Given the description of an element on the screen output the (x, y) to click on. 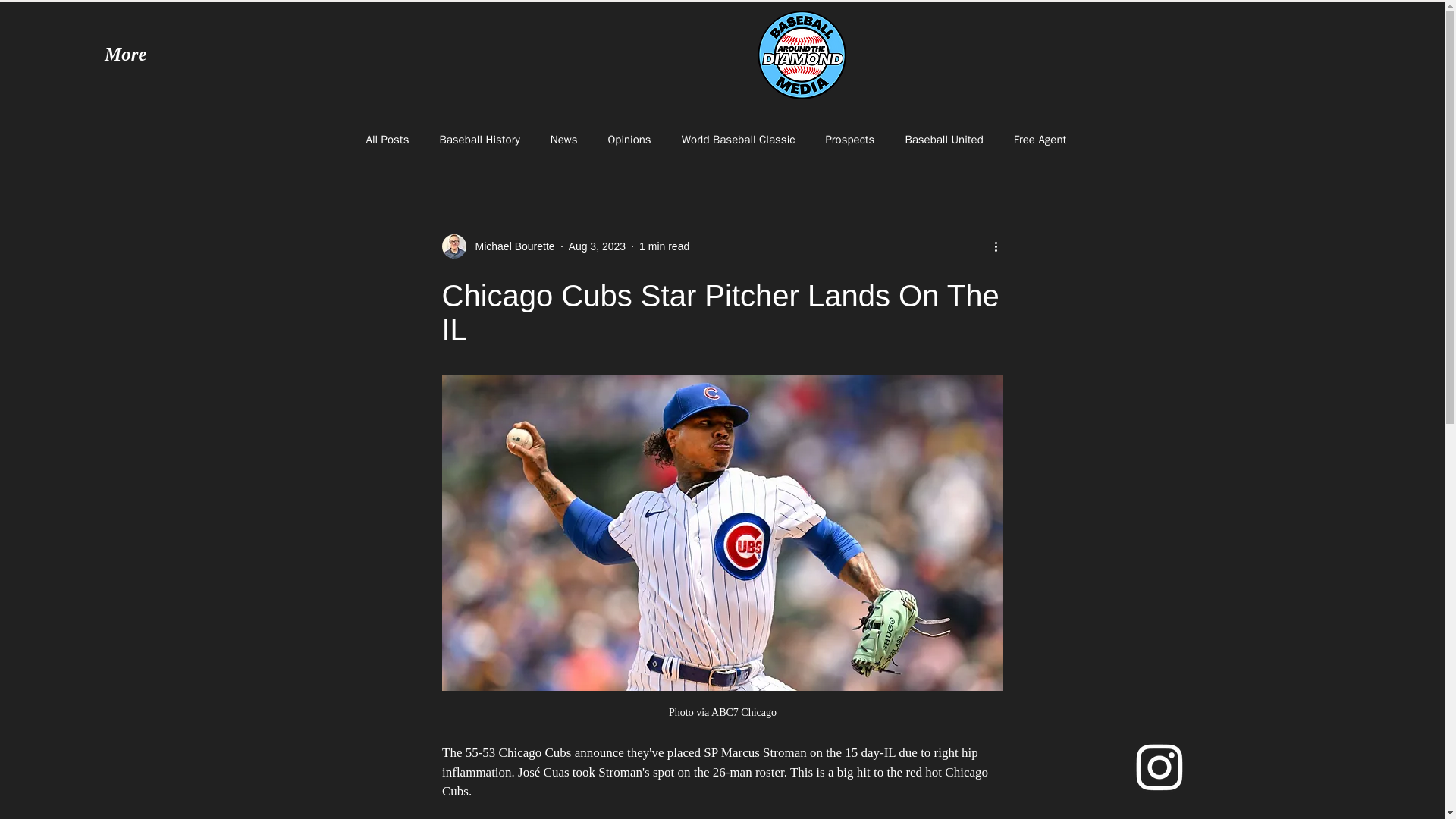
News (564, 138)
1 min read (663, 245)
Michael Bourette (497, 246)
Opinions (628, 138)
Aug 3, 2023 (597, 245)
Baseball United (943, 138)
Michael Bourette (509, 245)
All Posts (387, 138)
Prospects (850, 138)
Free Agent (1040, 138)
World Baseball Classic (737, 138)
Baseball History (479, 138)
